Given the description of an element on the screen output the (x, y) to click on. 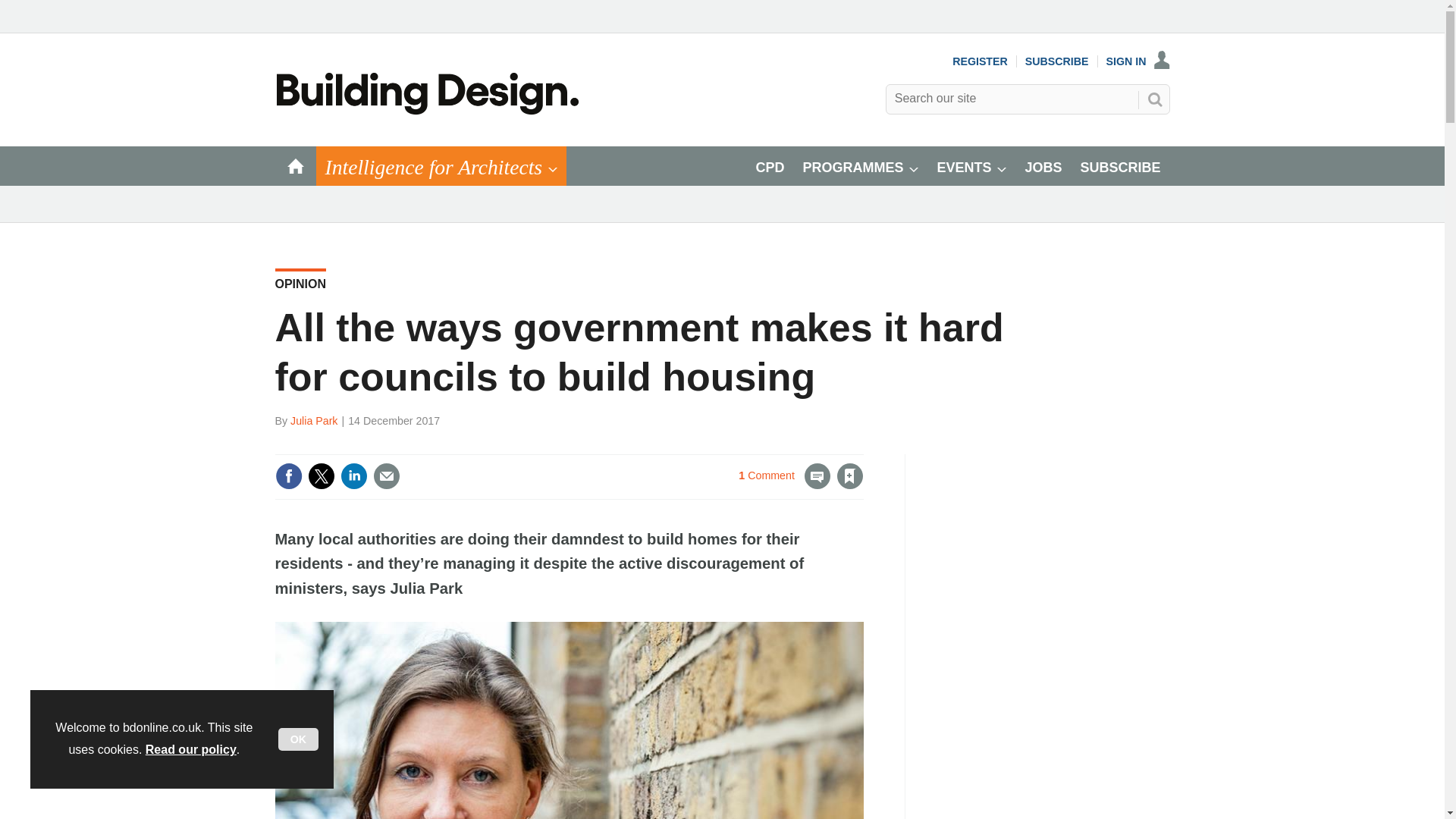
SUBSCRIBE (1057, 61)
OK (298, 739)
REGISTER (979, 61)
Read our policy (190, 748)
SIGN IN (1138, 61)
Share this on Twitter (320, 475)
Share this on Linked in (352, 475)
Email this article (386, 475)
1 Comment (784, 485)
SEARCH (1153, 98)
